Given the description of an element on the screen output the (x, y) to click on. 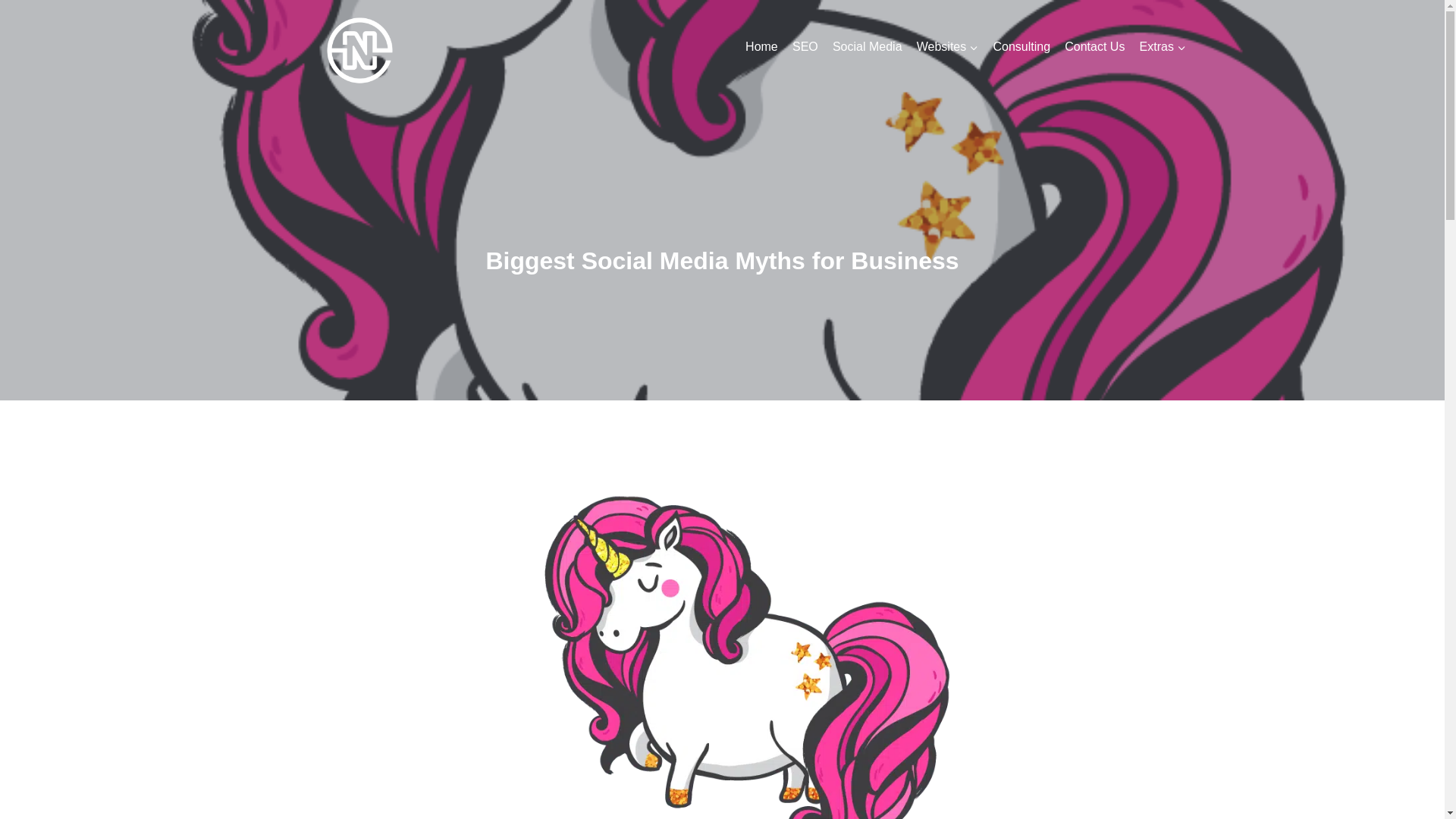
Search Engine Optimization (804, 47)
Home (761, 47)
Social Media (866, 47)
Business Consulting (1021, 47)
Contact Us (1095, 47)
NeONBRAND Homepage (761, 47)
Consulting (1021, 47)
Extras (1162, 47)
SEO (804, 47)
Websites (946, 47)
